Given the description of an element on the screen output the (x, y) to click on. 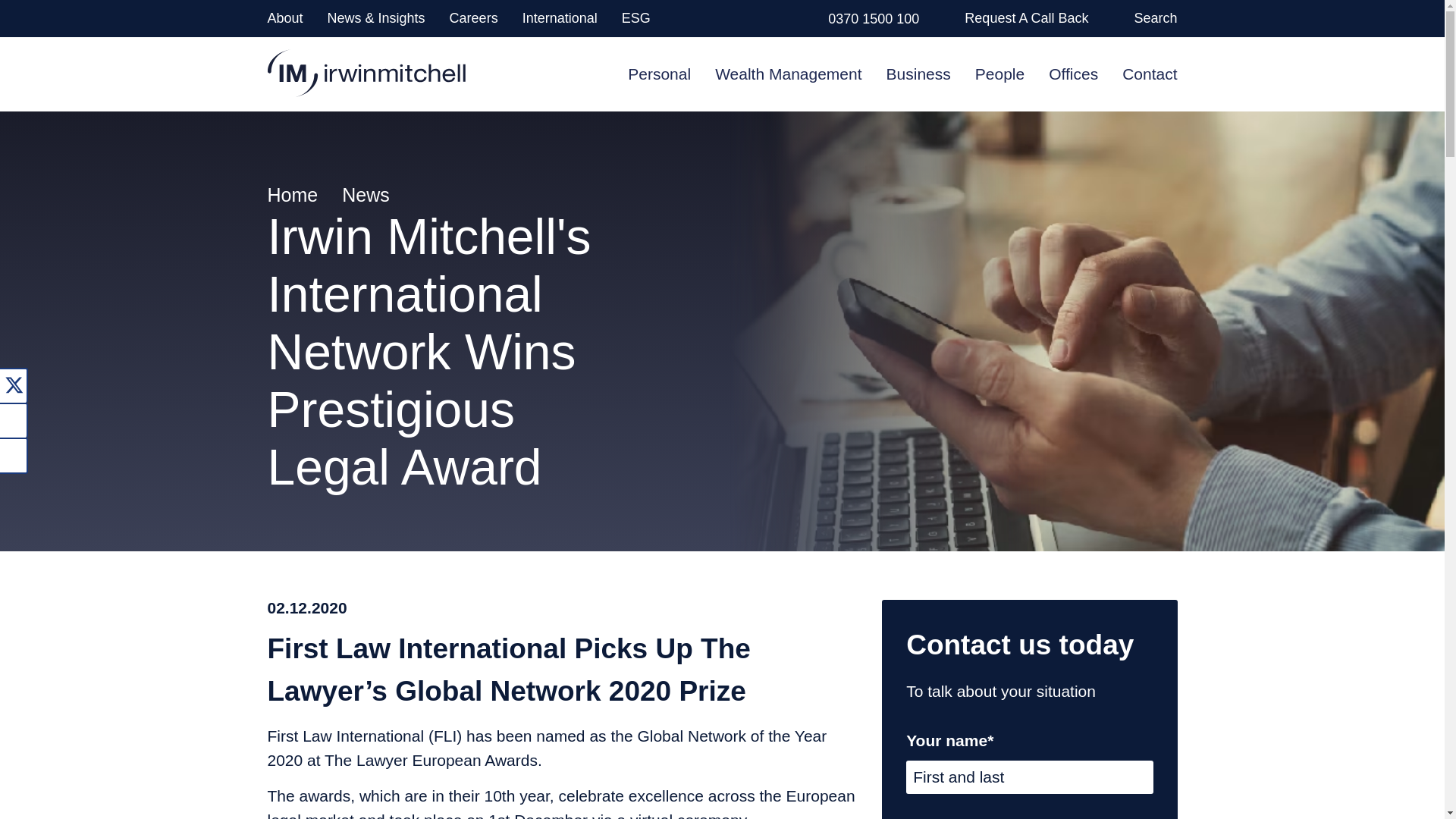
International (559, 18)
Search (1155, 18)
Personal (658, 73)
Request A Call Back (1025, 18)
Careers (473, 18)
0370 1500 100 (873, 18)
About (284, 18)
